Given the description of an element on the screen output the (x, y) to click on. 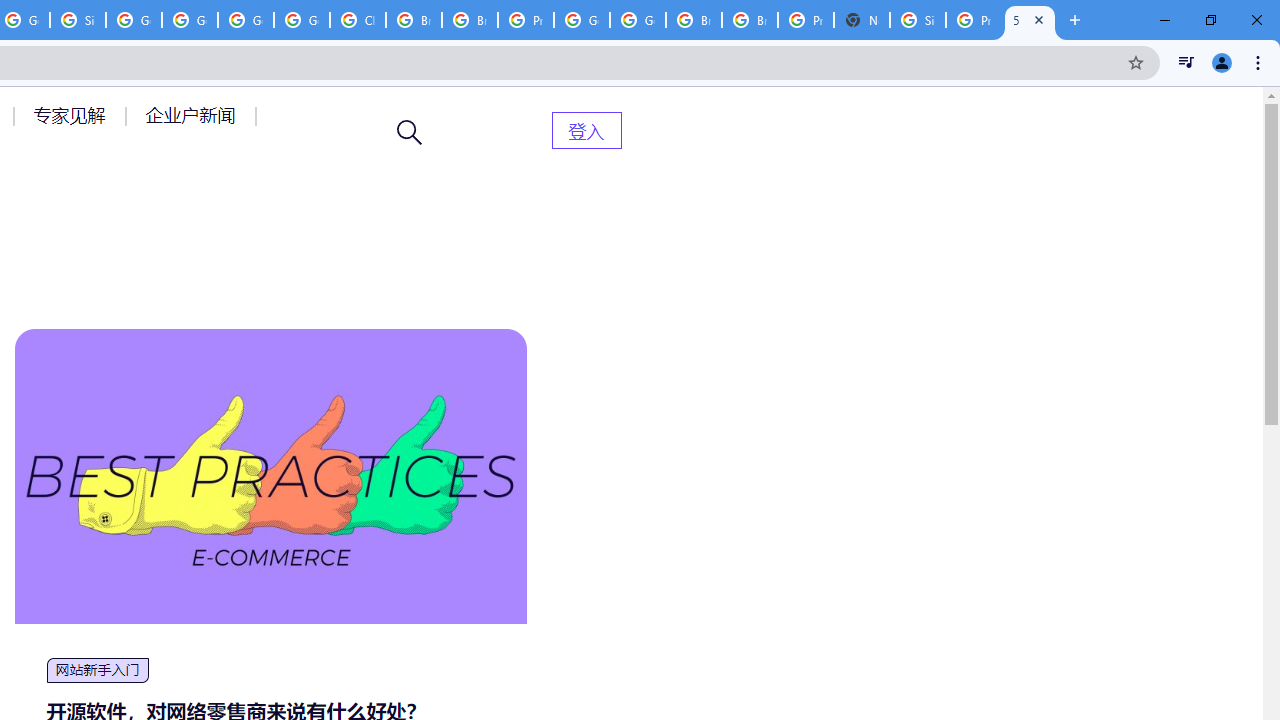
Sign in - Google Accounts (917, 20)
